Given the description of an element on the screen output the (x, y) to click on. 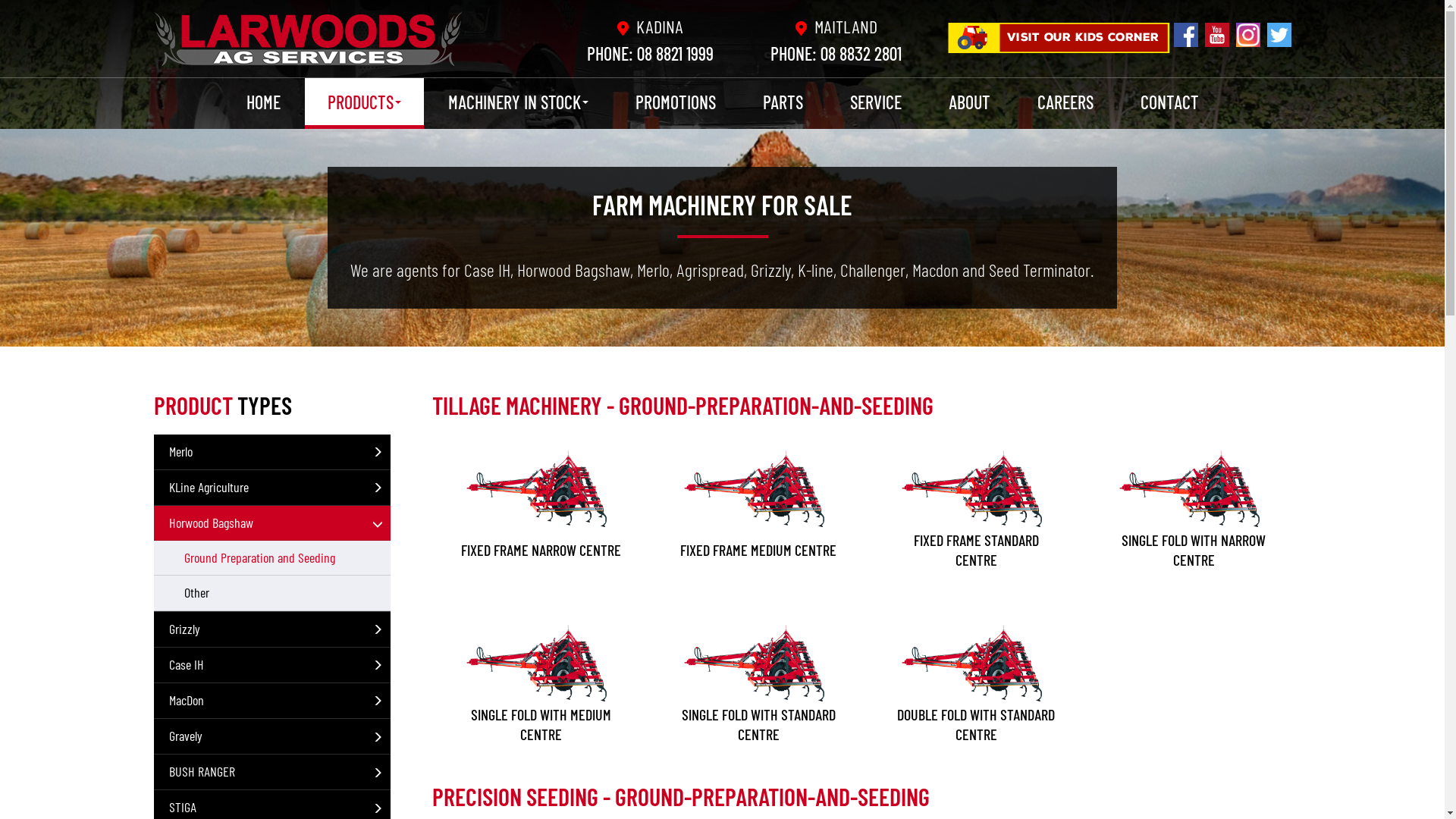
FIXED FRAME MEDIUM CENTRE Element type: text (758, 506)
KADINA Element type: text (650, 26)
SINGLE FOLD WITH NARROW CENTRE Element type: text (1193, 506)
inragram Element type: text (1246, 41)
HOME Element type: text (262, 101)
Ground Preparation and Seeding Element type: text (271, 557)
Grizzly Element type: text (271, 628)
Merlo Element type: text (271, 451)
DOUBLE FOLD WITH STANDARD CENTRE Element type: text (975, 680)
MACHINERY IN STOCK Element type: text (517, 103)
PARTS Element type: text (782, 101)
Case IH Element type: text (271, 664)
CONTACT Element type: text (1169, 101)
SINGLE FOLD WITH STANDARD CENTRE Element type: text (758, 680)
MacDon Element type: text (271, 700)
Gravely Element type: text (271, 735)
PHONE: 08 8821 1999 Element type: text (649, 53)
ABOUT Element type: text (968, 101)
SERVICE Element type: text (874, 101)
PROMOTIONS Element type: text (675, 101)
KLine Agriculture Element type: text (271, 487)
CAREERS Element type: text (1065, 101)
MAITLAND Element type: text (835, 26)
Horwood Bagshaw Element type: text (271, 522)
FIXED FRAME NARROW CENTRE Element type: text (540, 506)
BUSH RANGER Element type: text (271, 771)
FIXED FRAME STANDARD CENTRE Element type: text (975, 506)
SINGLE FOLD WITH MEDIUM CENTRE Element type: text (540, 680)
PRODUCTS Element type: text (363, 103)
PHONE: 08 8832 2801 Element type: text (835, 53)
Other Element type: text (271, 592)
